Given the description of an element on the screen output the (x, y) to click on. 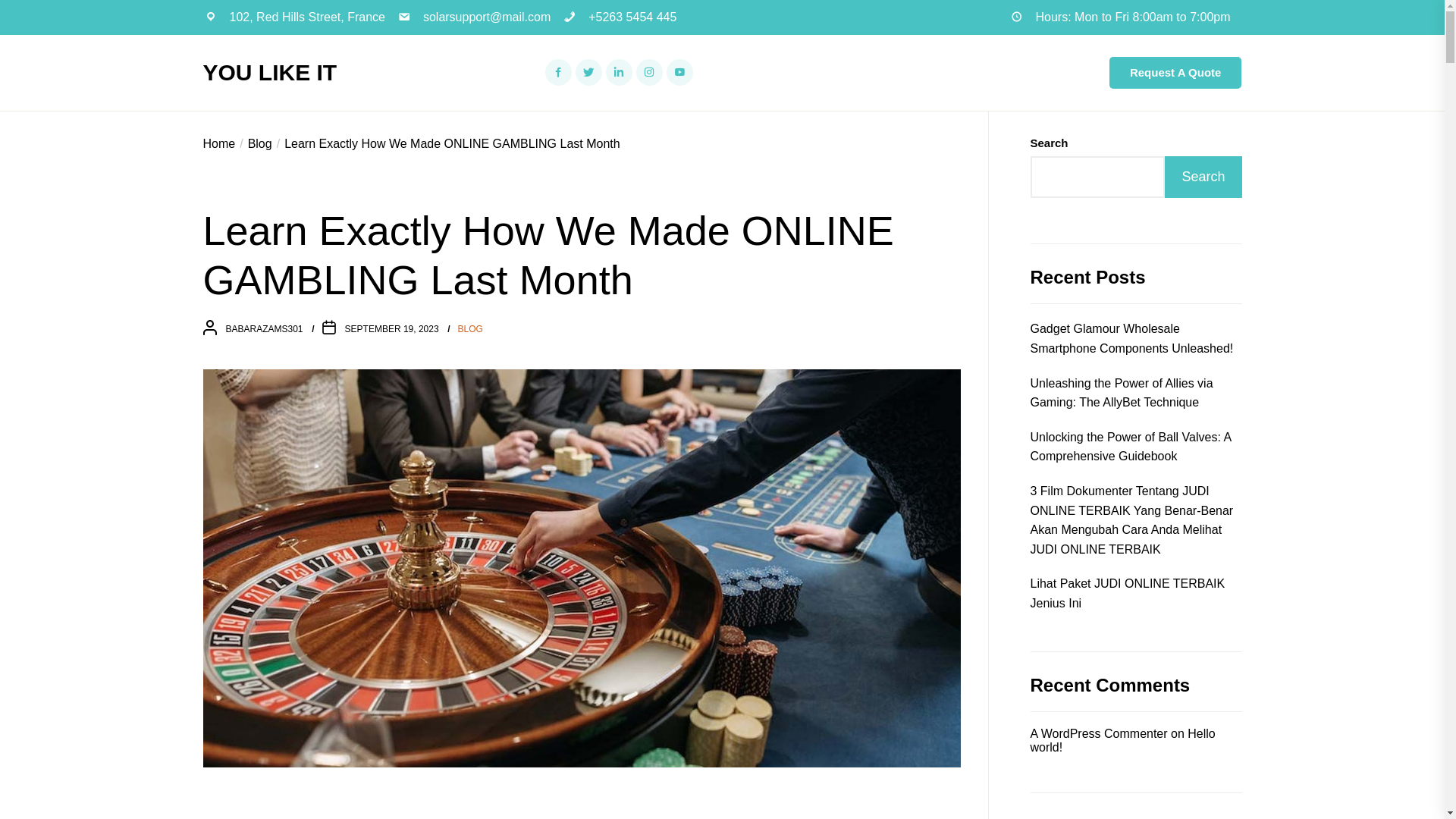
Blog (252, 143)
Learn Exactly How We Made ONLINE GAMBLING Last Month (446, 143)
A WordPress Commenter (1098, 733)
Hello world! (1121, 740)
BABARAZAMS301 (263, 328)
SEPTEMBER 19, 2023 (392, 328)
Gadget Glamour Wholesale Smartphone Components Unleashed! (1135, 338)
YOU LIKE IT (270, 72)
Home (219, 143)
BLOG (470, 329)
Search (1202, 177)
Request A Quote (1175, 72)
